Given the description of an element on the screen output the (x, y) to click on. 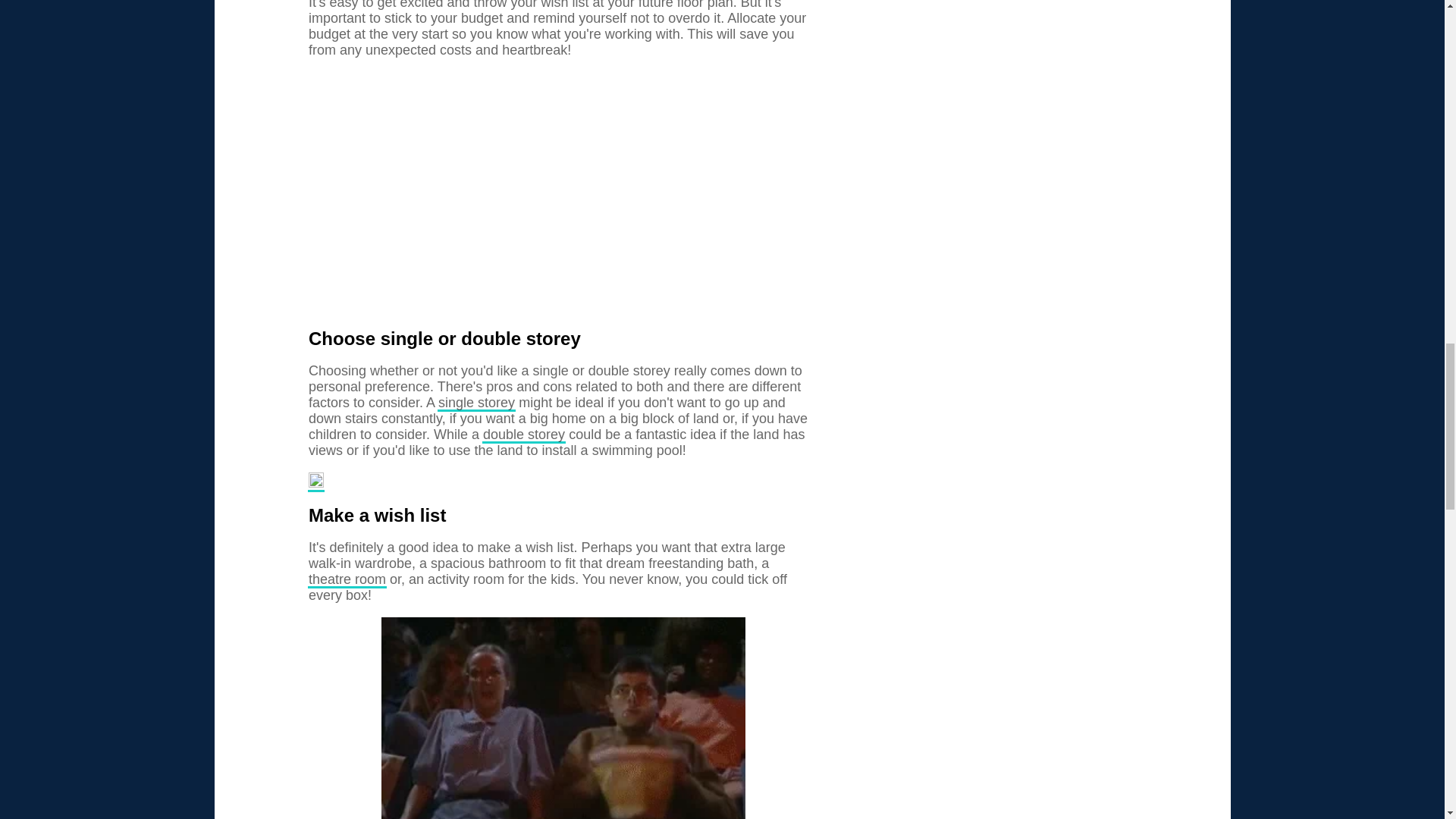
theatre room (346, 579)
single storey (476, 402)
double storey (523, 434)
